Given the description of an element on the screen output the (x, y) to click on. 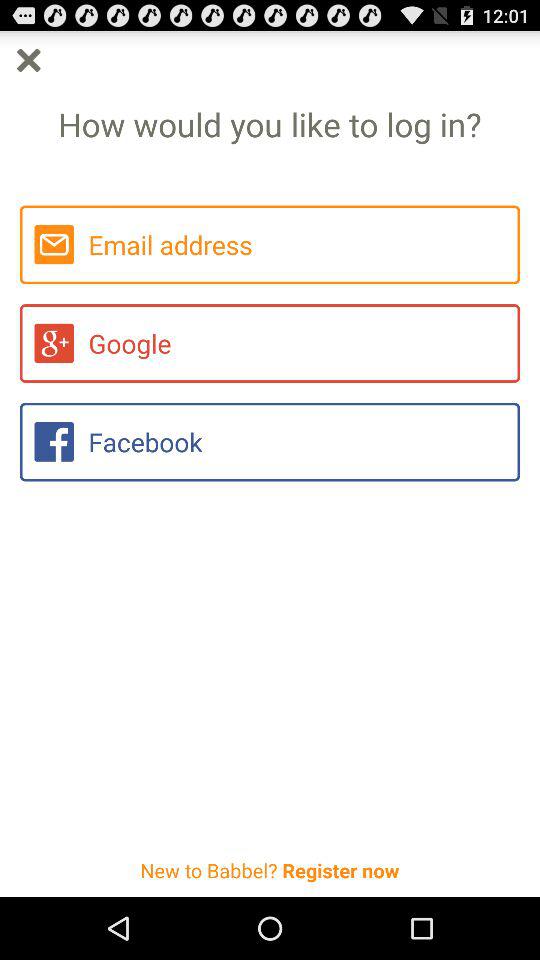
close app (28, 60)
